Given the description of an element on the screen output the (x, y) to click on. 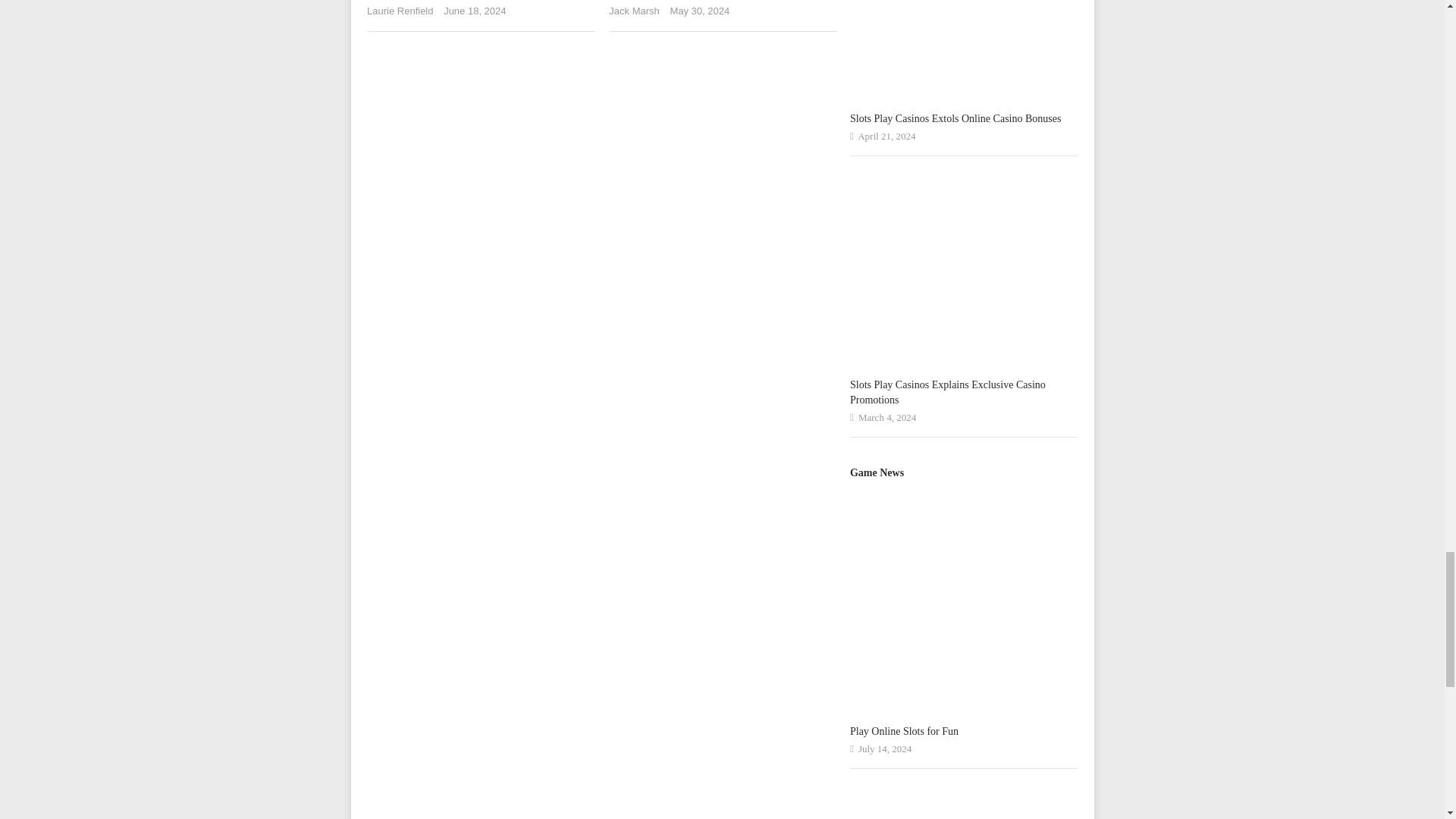
Posts by Laurie Renfield (399, 10)
Posts by Jack Marsh (633, 10)
